Given the description of an element on the screen output the (x, y) to click on. 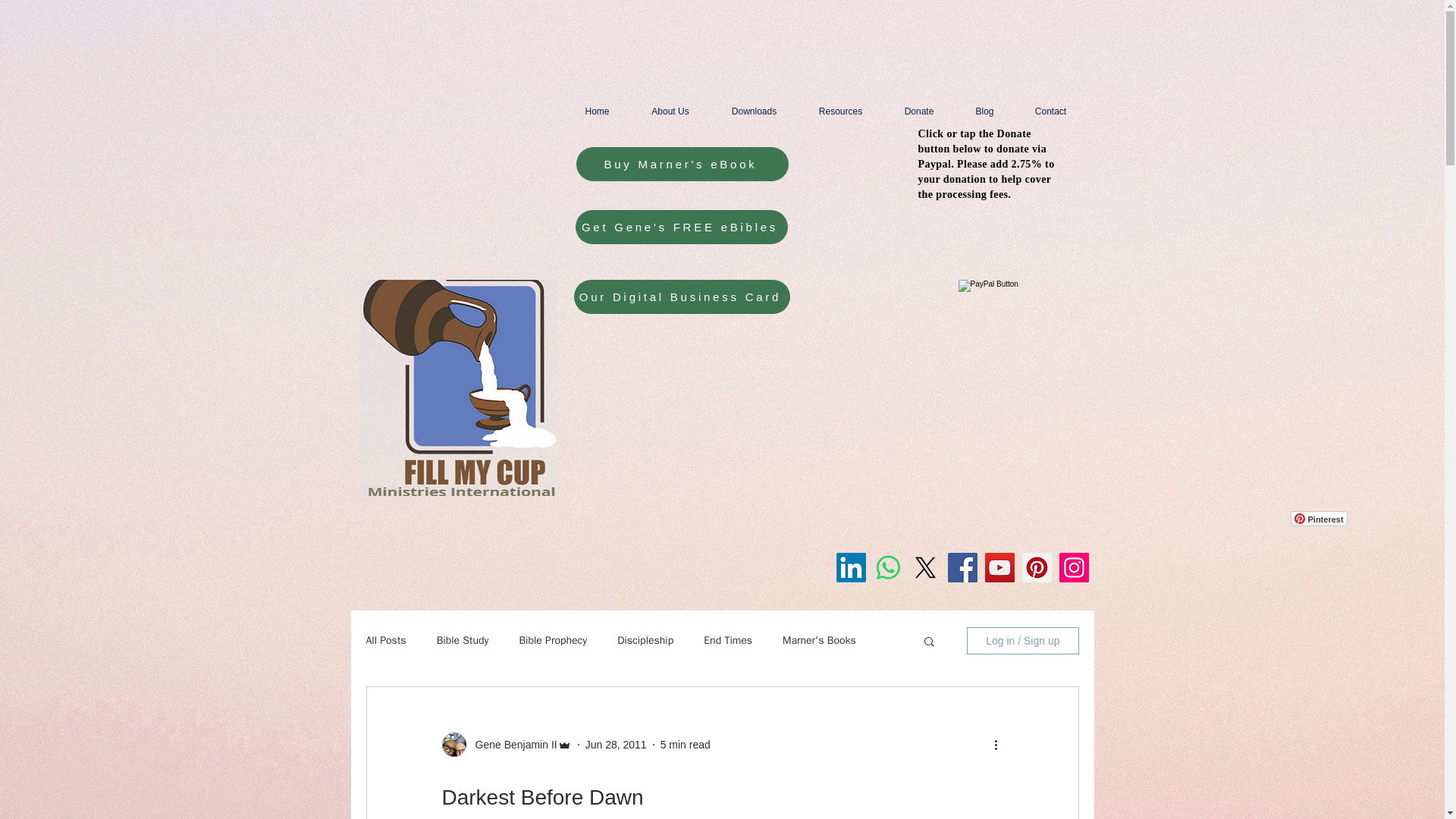
Marner's Books (819, 640)
Buy Marner's eBook (682, 163)
Blog (984, 111)
Bible Prophecy (552, 640)
Contact (1050, 111)
About Us (670, 111)
Pinterest (1319, 518)
Home (597, 111)
End Times (727, 640)
Gene Benjamin II (510, 744)
